Given the description of an element on the screen output the (x, y) to click on. 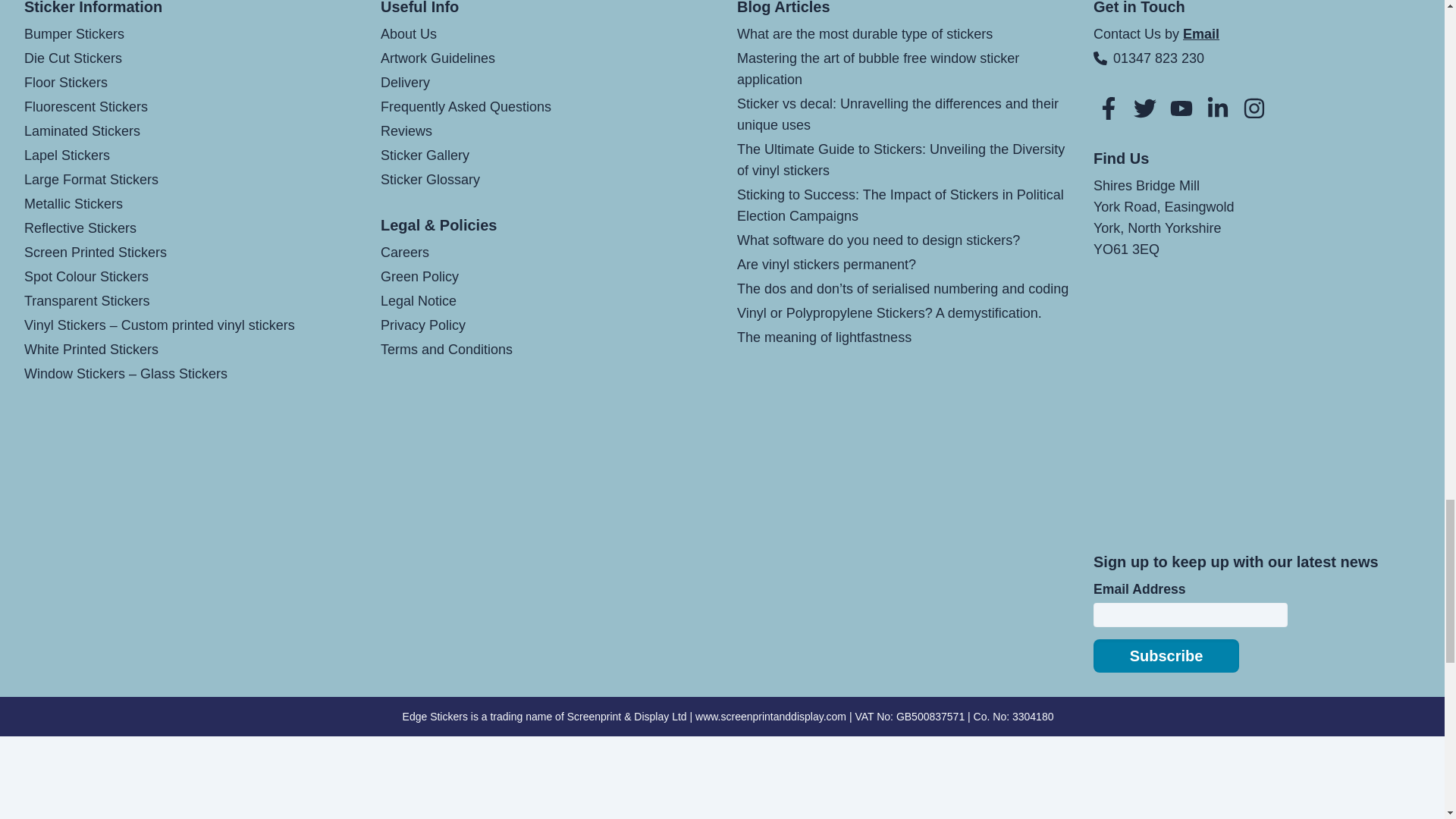
Instagram (1254, 108)
LinkedIn  (1217, 108)
Twitter  (1144, 108)
Subscribe (1166, 655)
Facebook  (1108, 108)
YouTube  (1181, 108)
